Given the description of an element on the screen output the (x, y) to click on. 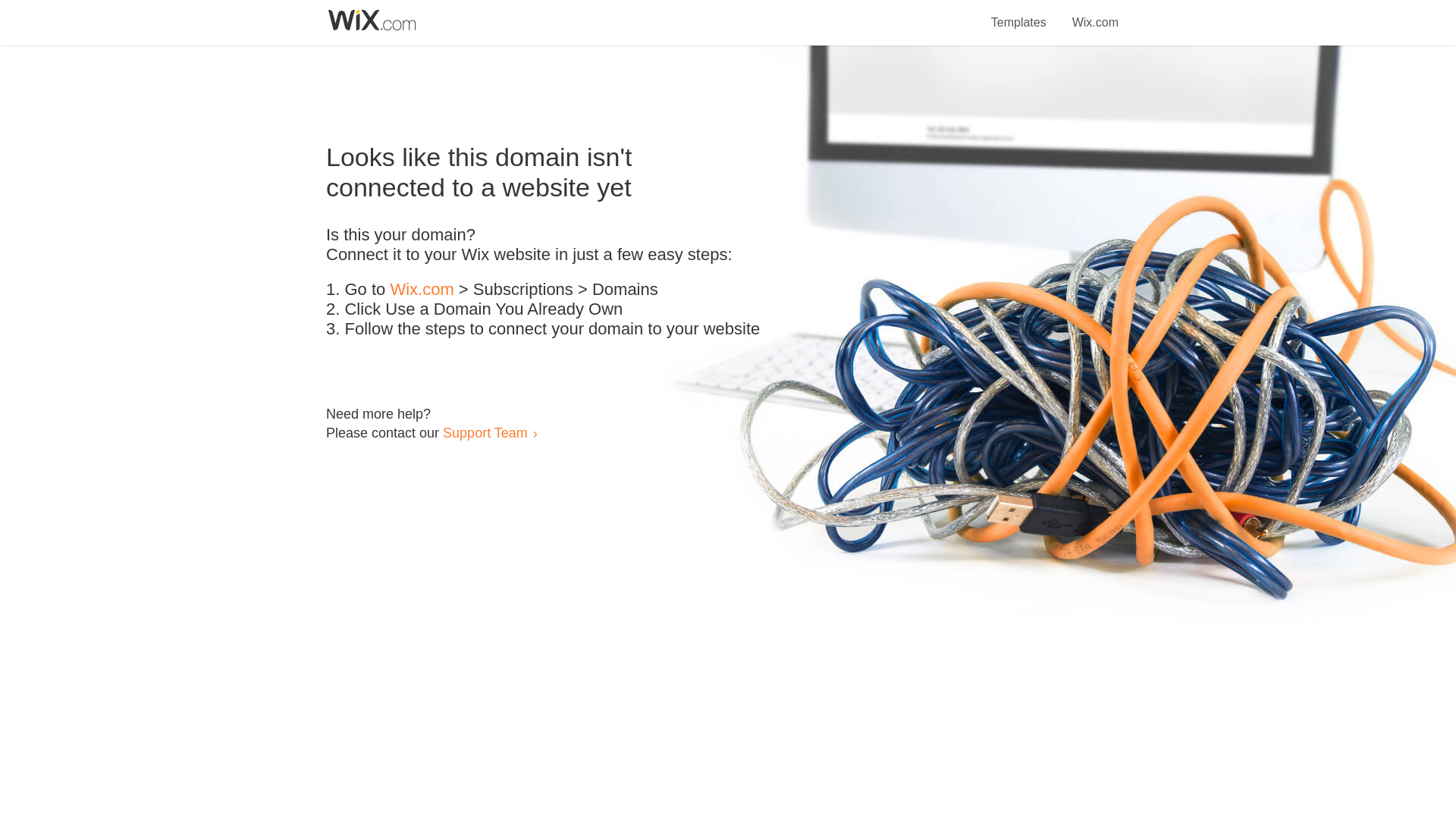
Templates (1018, 14)
Wix.com (1095, 14)
Wix.com (421, 289)
Support Team (484, 432)
